Given the description of an element on the screen output the (x, y) to click on. 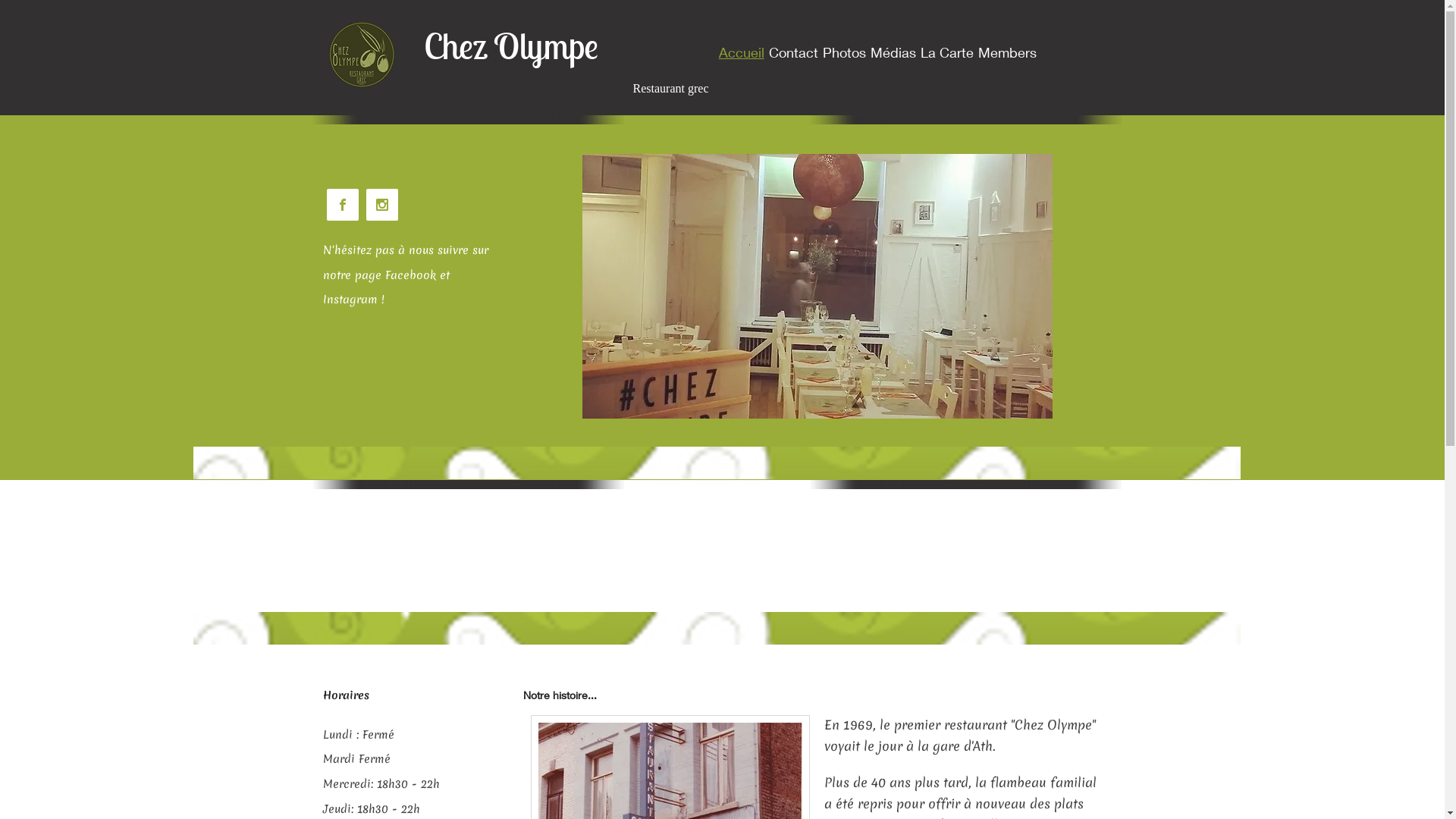
La Carte Element type: text (946, 52)
Photos Element type: text (844, 52)
Contact Element type: text (793, 52)
Accueil Element type: text (740, 52)
Embedded Content Element type: hover (417, 173)
Members Element type: text (1006, 52)
